Given the description of an element on the screen output the (x, y) to click on. 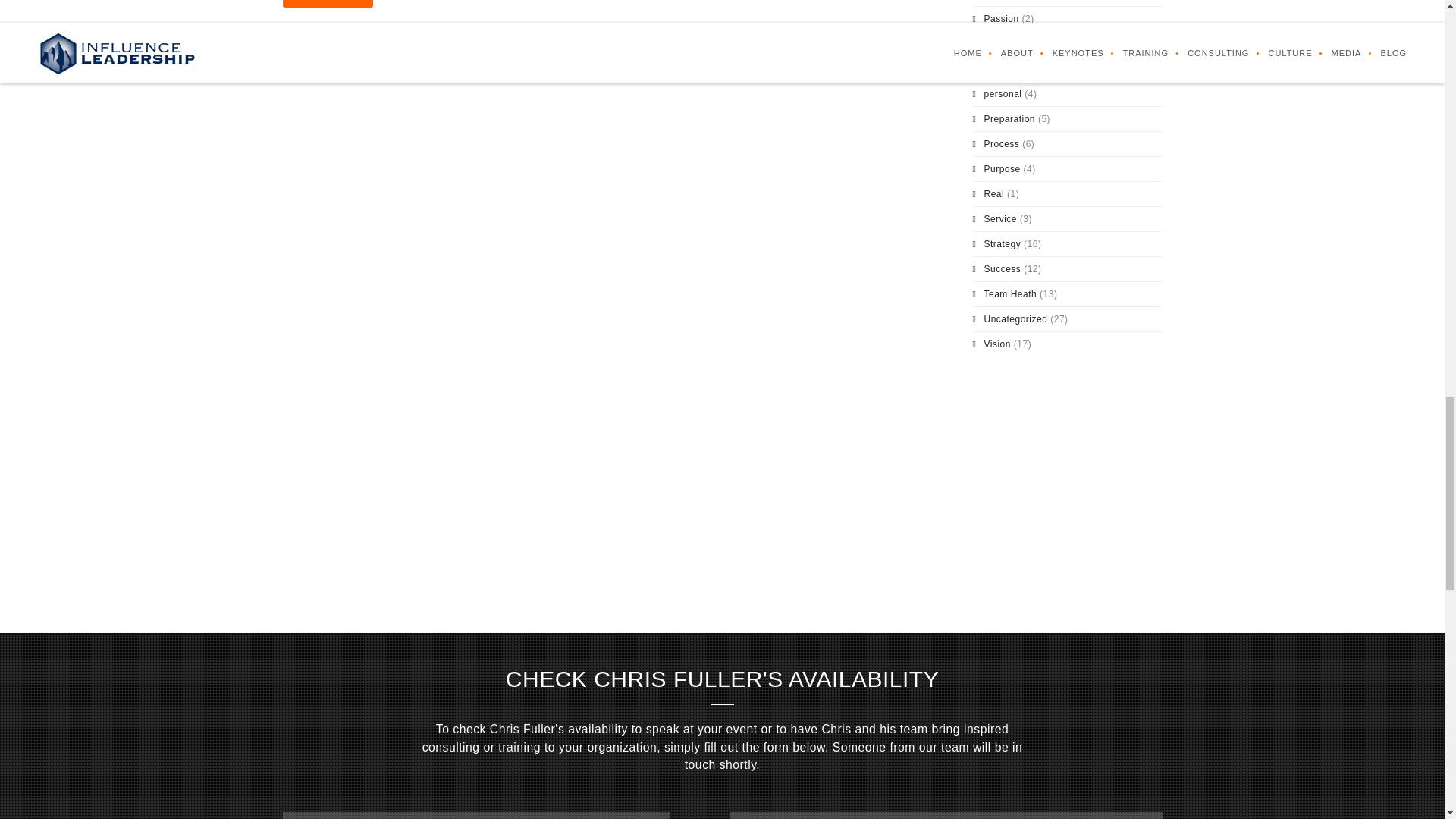
Post Comment (327, 3)
